Given the description of an element on the screen output the (x, y) to click on. 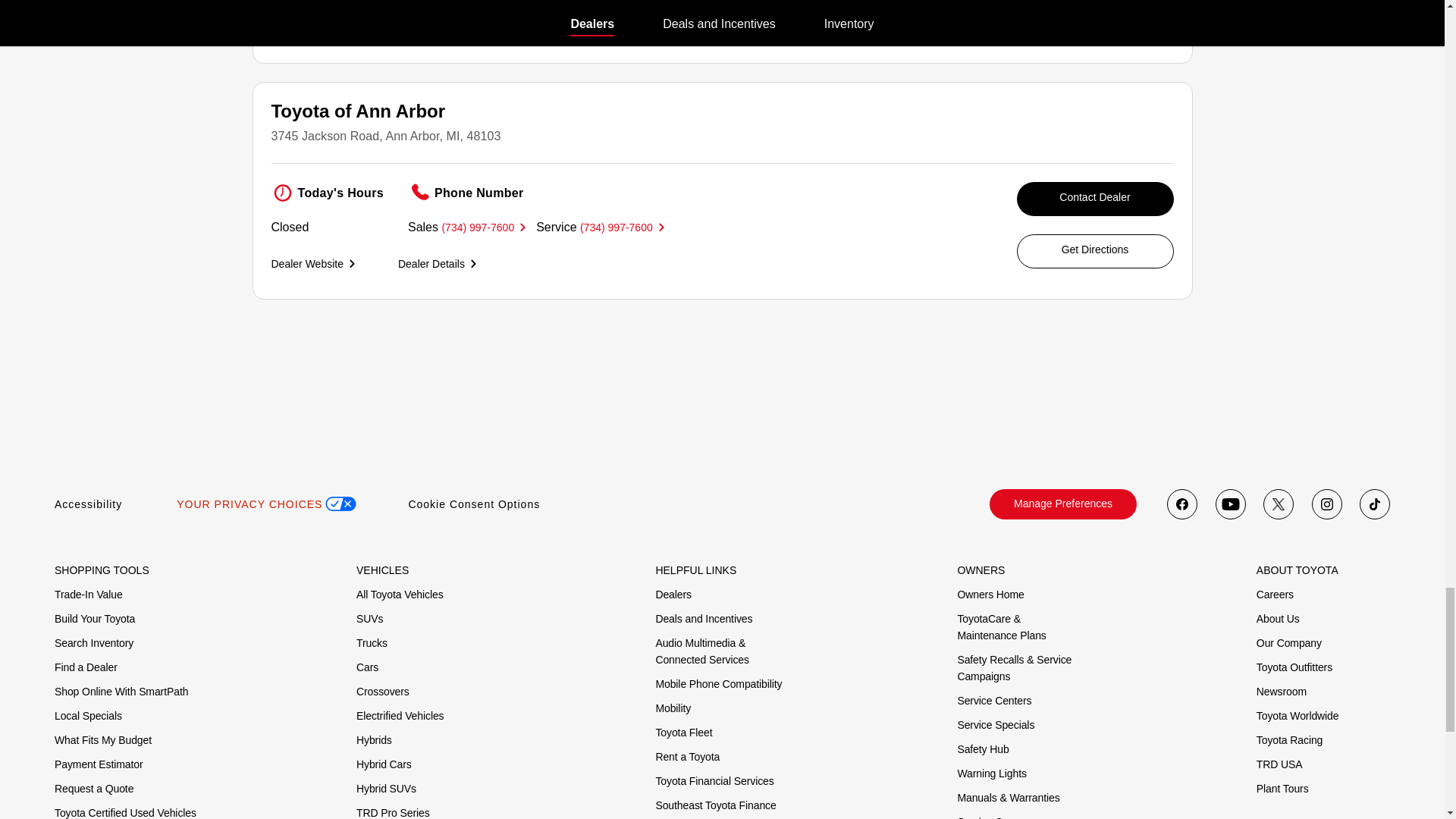
Payment Estimator (98, 764)
What Fits My Budget (103, 740)
Southeast Toyota Finance (715, 805)
Mobile Phone Compatibility  (718, 683)
Hybrid Cars (384, 764)
Local Specials (88, 715)
SUVs (369, 618)
Search Inventory (94, 642)
Safety Hub (982, 749)
Rent a Toyota  (687, 756)
Careers (1275, 594)
Dealers (673, 594)
Mobility (672, 708)
Deals and Incentives  (703, 618)
About Us (1278, 618)
